Given the description of an element on the screen output the (x, y) to click on. 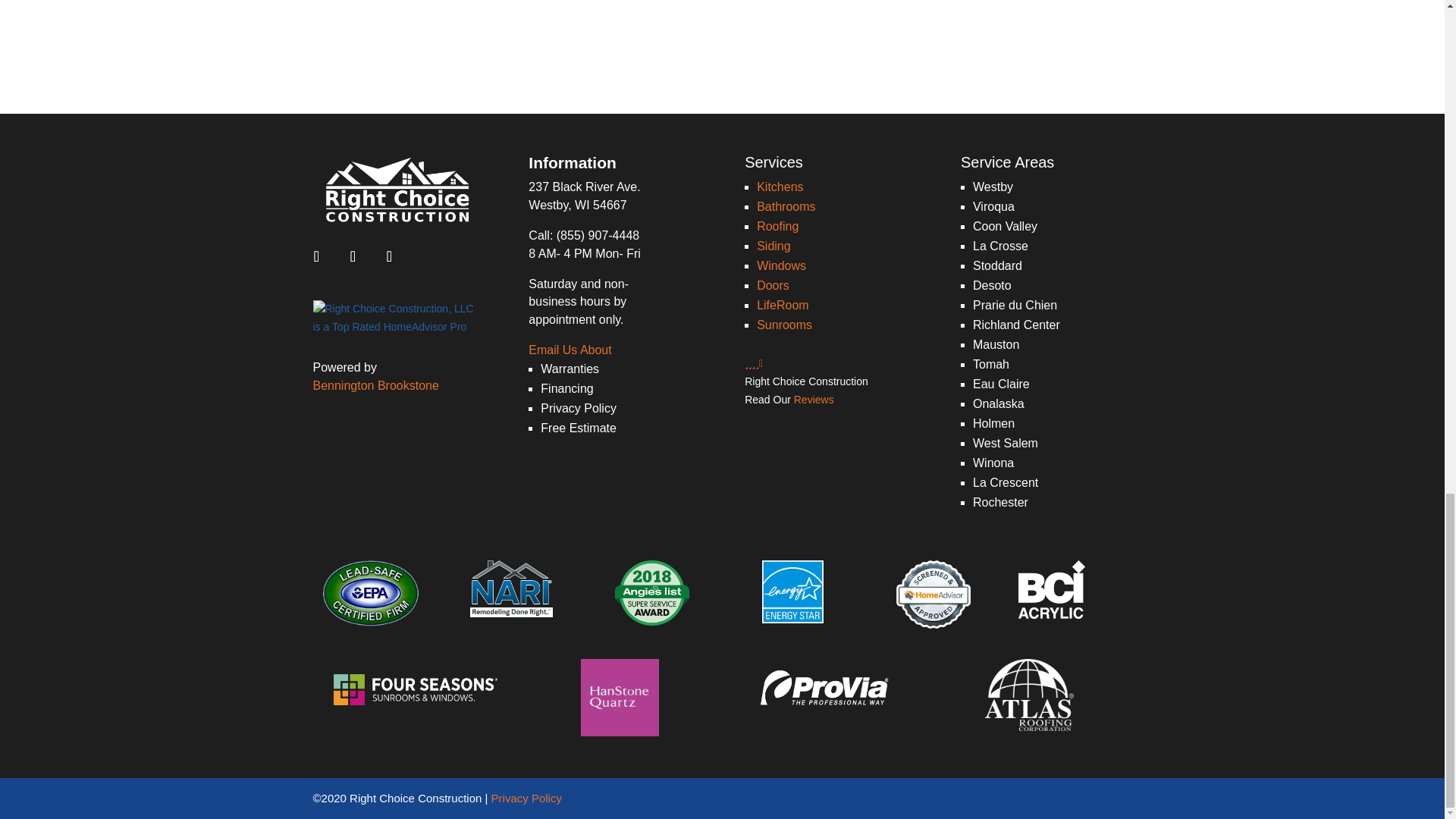
Sunrooms (784, 324)
Bathrooms (786, 205)
LifeRoom (782, 305)
Bennington Brookstone (375, 385)
Follow on Facebook (316, 255)
Windows (781, 265)
Kitchens (780, 186)
Privacy Policy (527, 797)
Email Us About (569, 349)
Follow on Youtube (389, 255)
Roofing (777, 226)
Doors (773, 285)
Reviews (813, 399)
Follow on Instagram (352, 255)
Siding (773, 245)
